Given the description of an element on the screen output the (x, y) to click on. 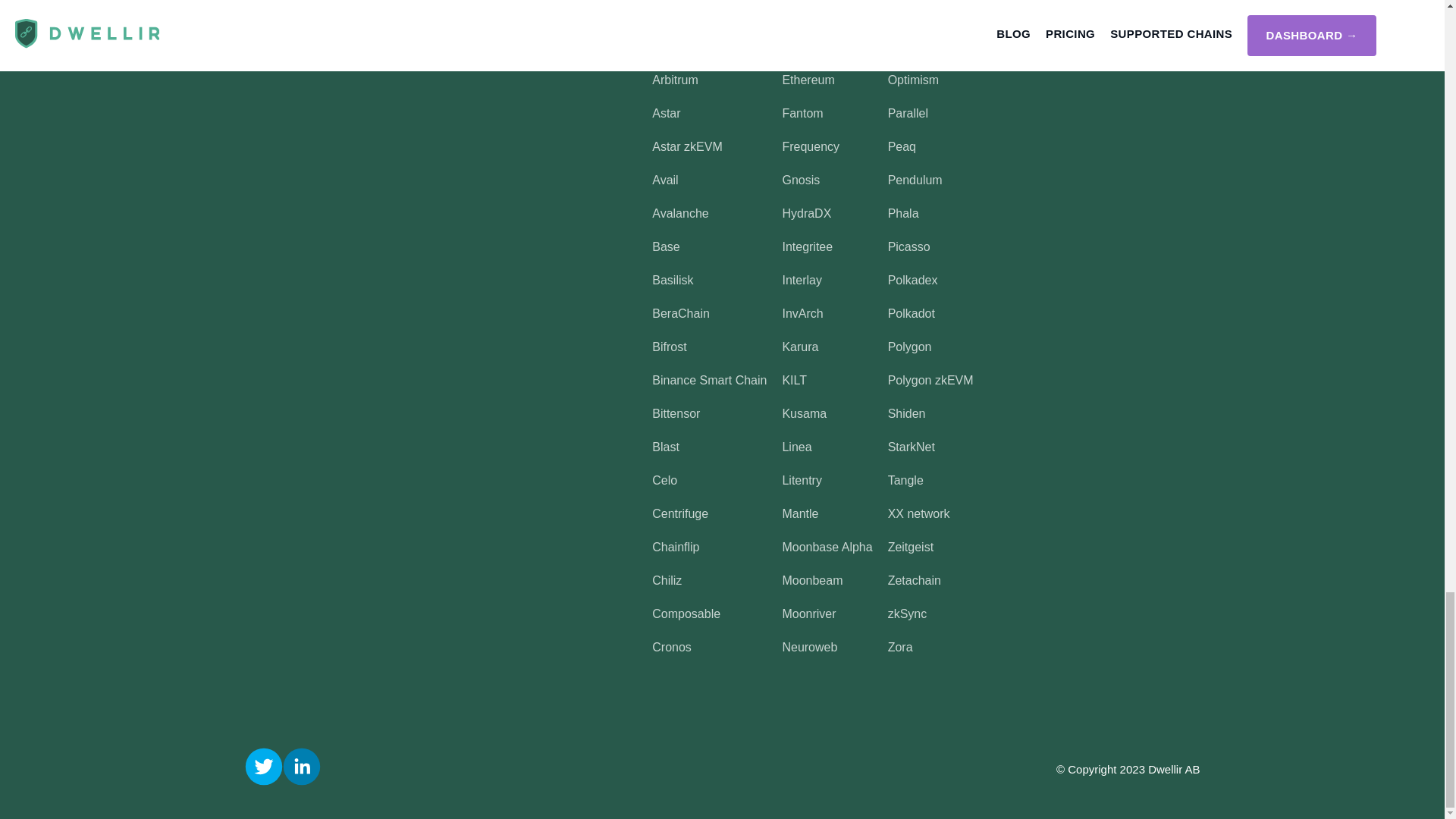
Astar zkEVM (687, 146)
Ethereum (807, 79)
Base (665, 246)
Amplitude (679, 46)
Avalanche (679, 213)
Blast (665, 446)
Equilibrium (811, 46)
Fantom (801, 113)
Bittensor (676, 413)
Centrifuge (679, 513)
Arbitrum (674, 79)
Chainflip (675, 546)
Composable (686, 613)
Frequency (810, 146)
BeraChain (681, 313)
